Given the description of an element on the screen output the (x, y) to click on. 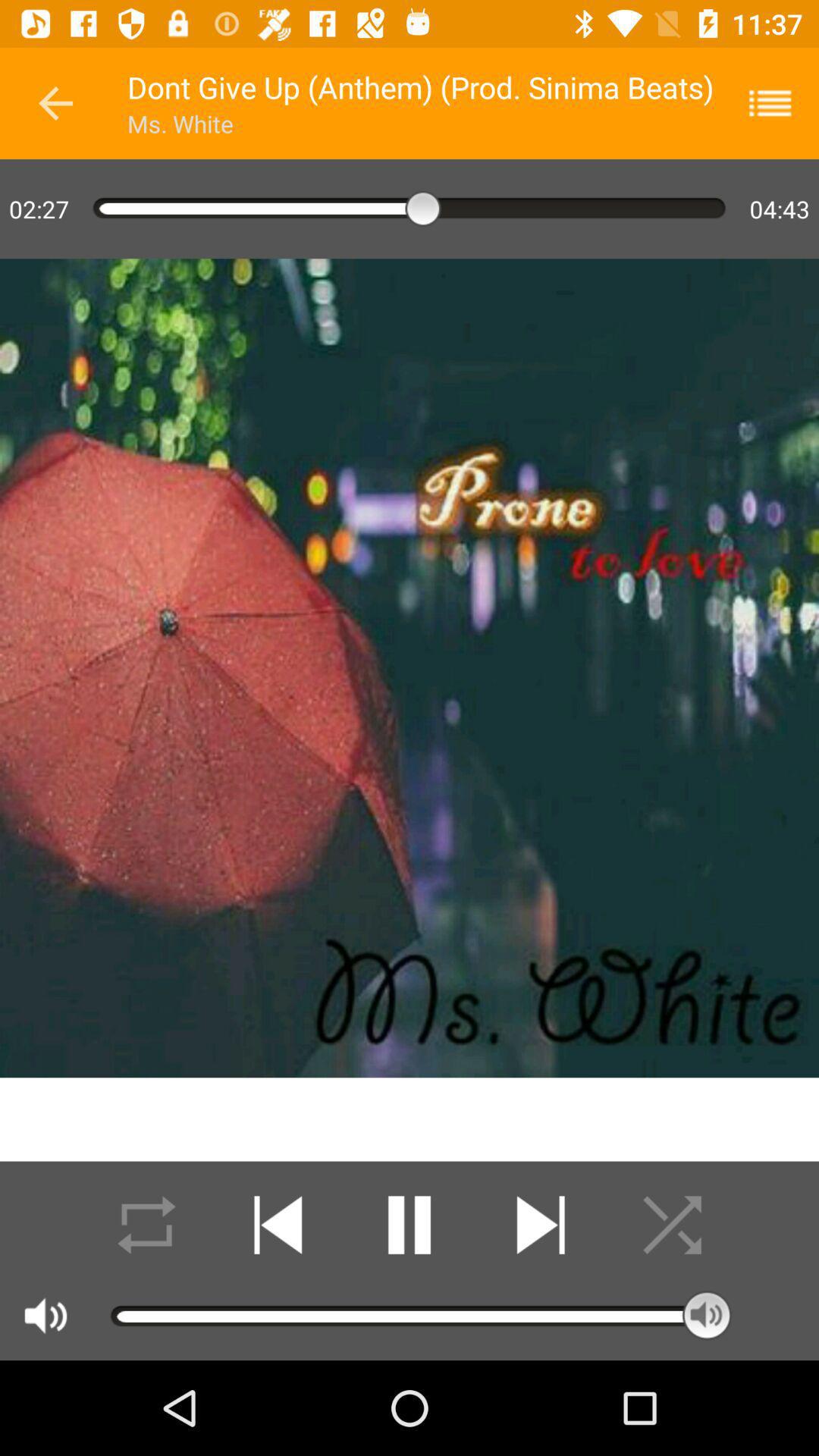
the icon represented the play or stop the music (409, 1224)
